Given the description of an element on the screen output the (x, y) to click on. 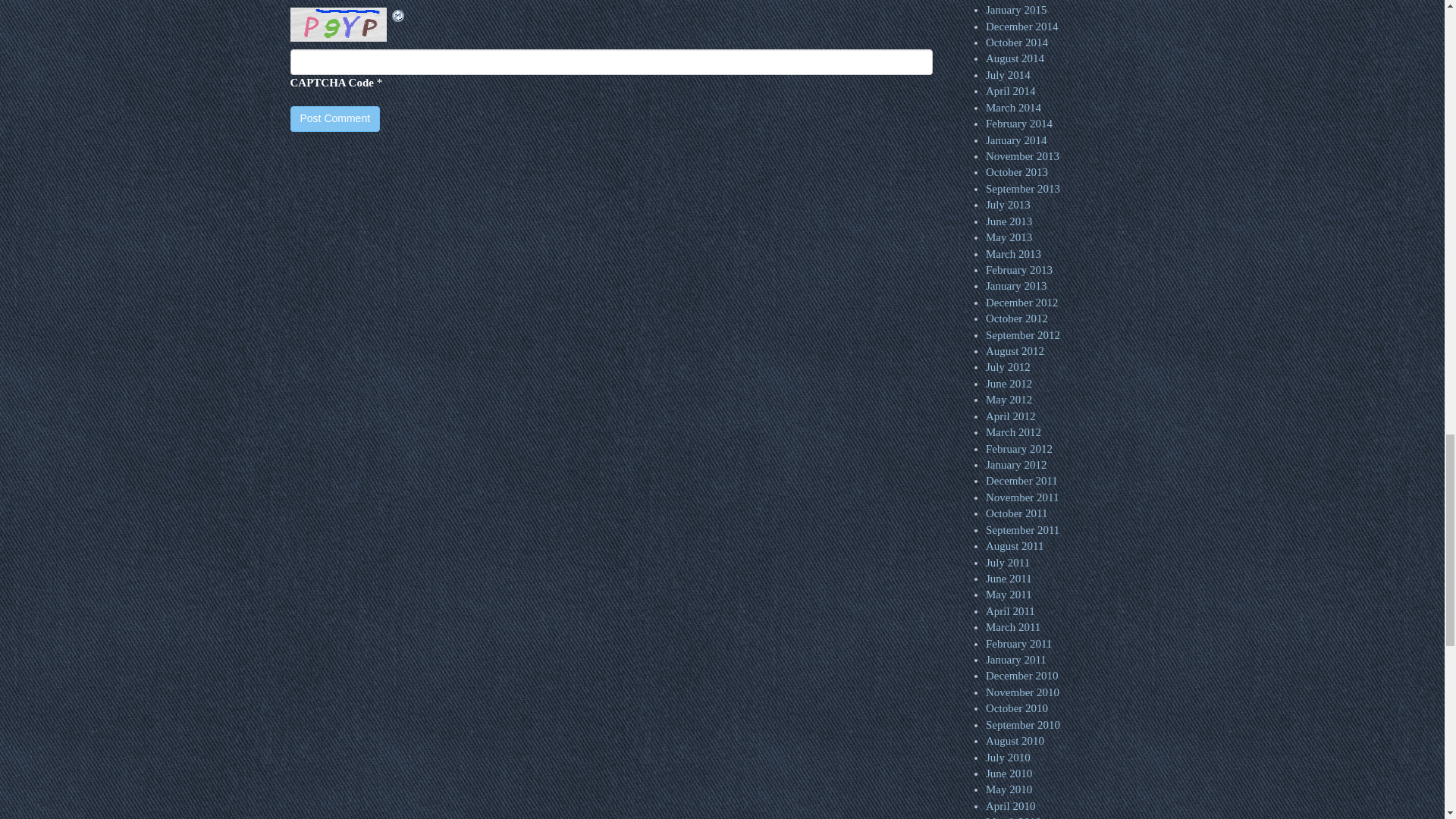
Post Comment (334, 118)
Refresh (398, 15)
Post Comment (334, 118)
CAPTCHA (339, 24)
